Given the description of an element on the screen output the (x, y) to click on. 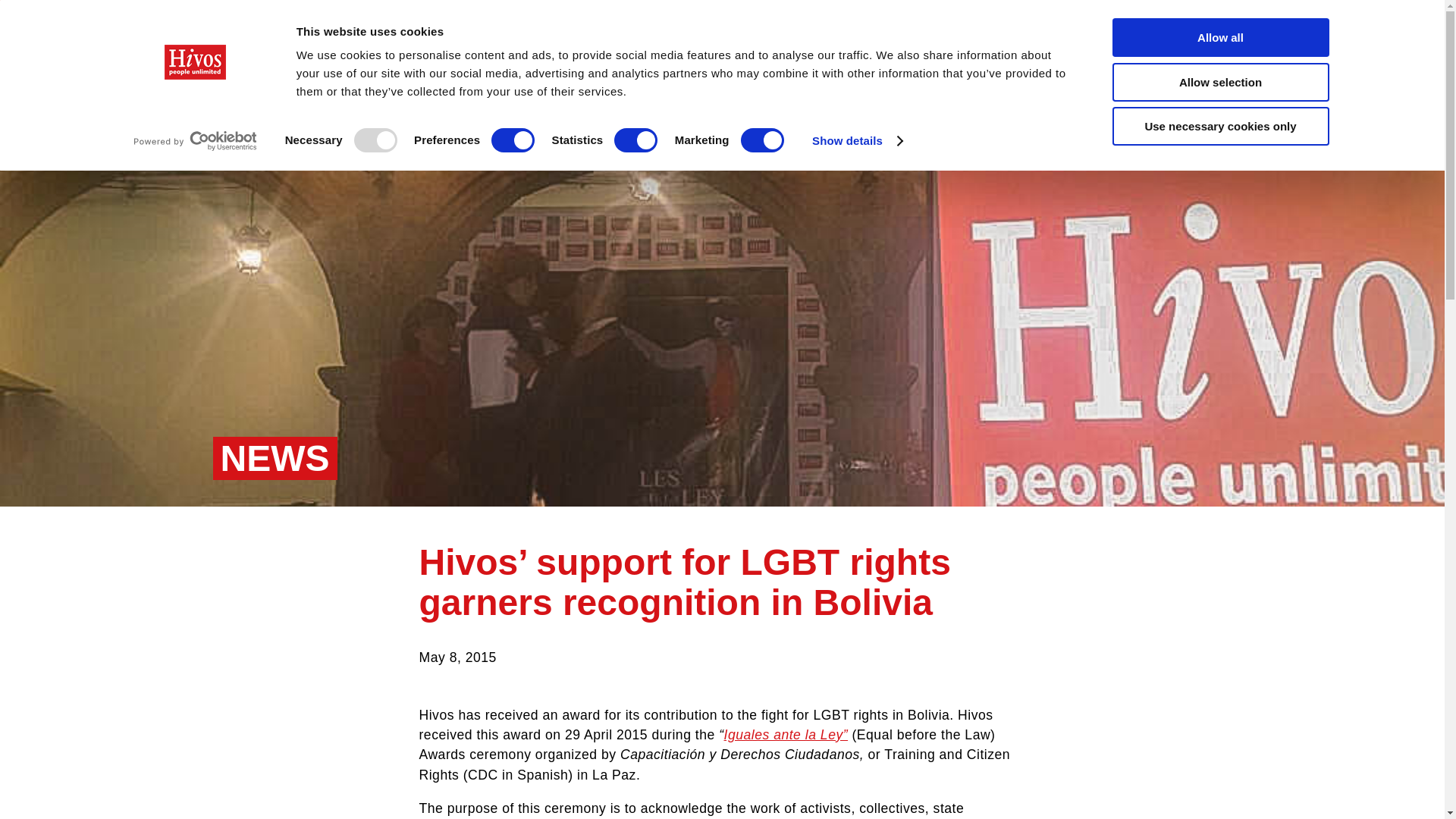
Show details (856, 140)
